Given the description of an element on the screen output the (x, y) to click on. 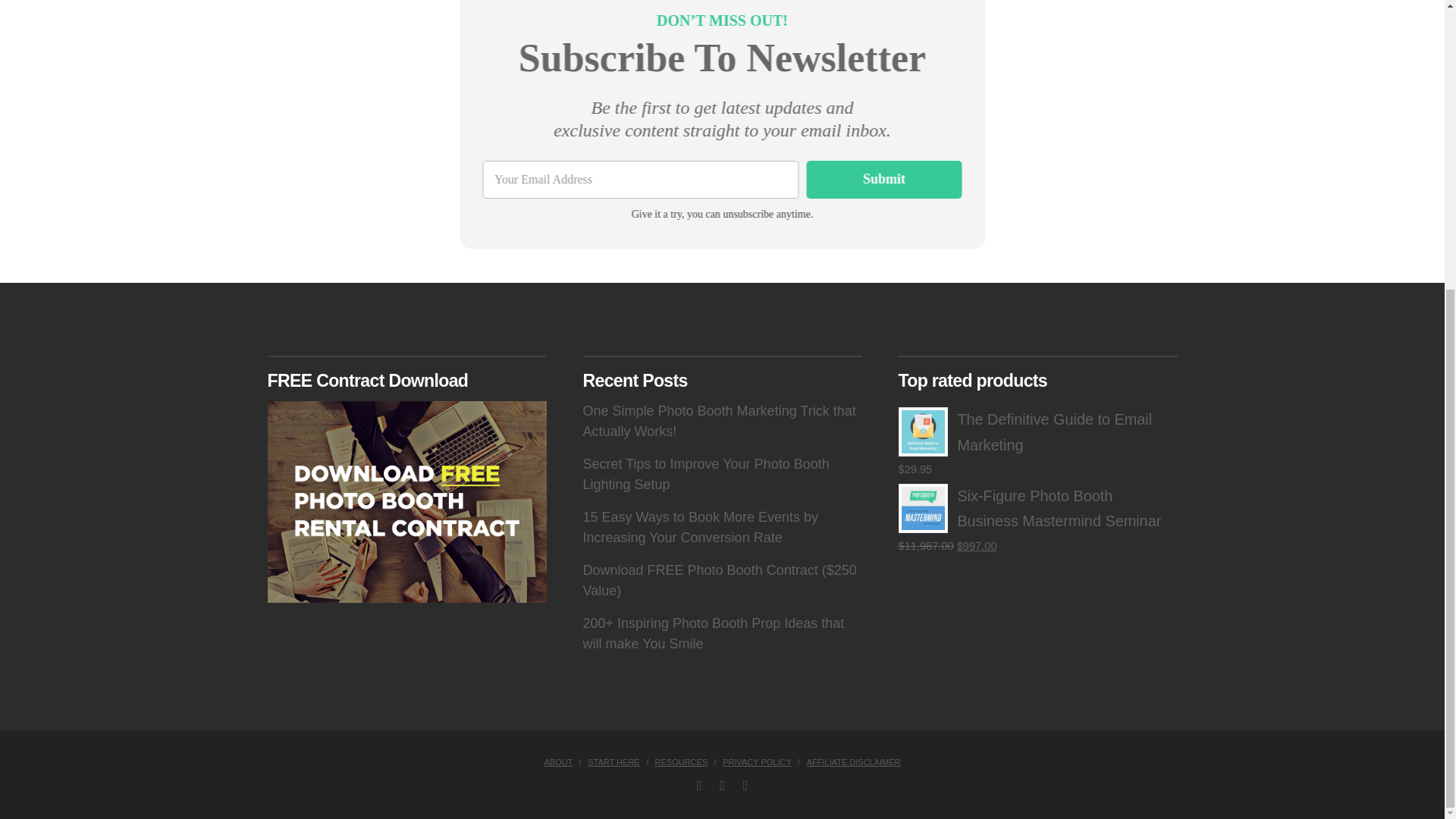
Six-Figure Photo Booth Business Mastermind Seminar (1037, 509)
One Simple Photo Booth Marketing Trick that Actually Works! (719, 420)
Secret Tips to Improve Your Photo Booth Lighting Setup (705, 474)
ABOUT (557, 761)
The Definitive Guide to Email Marketing (1037, 432)
START HERE (613, 761)
PRIVACY POLICY (757, 761)
RESOURCES (681, 761)
AFFILIATE DISCLAIMER (853, 761)
